Given the description of an element on the screen output the (x, y) to click on. 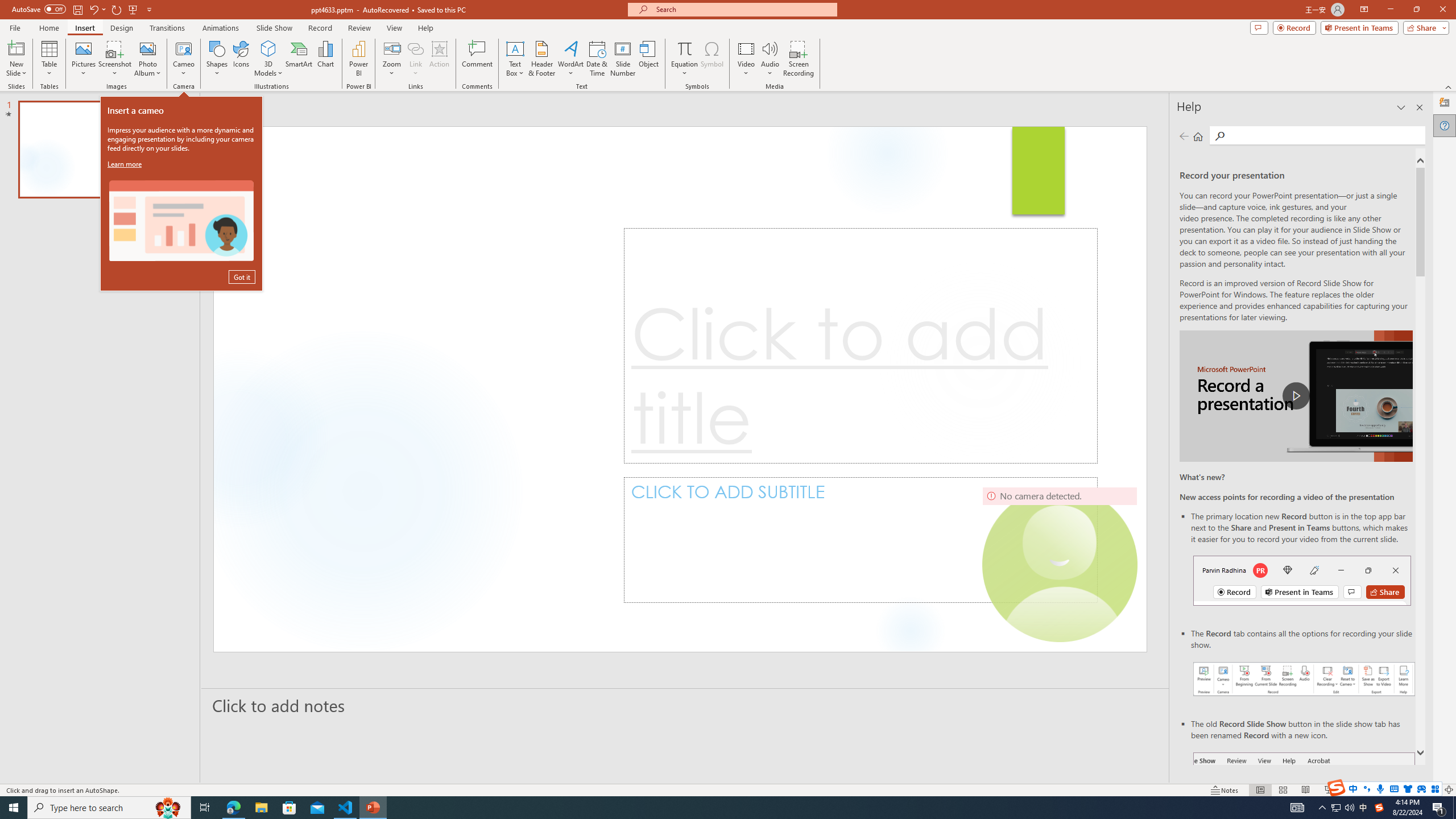
SmartArt... (298, 58)
WordArt (570, 58)
Learn more (125, 163)
3D Models (268, 58)
